Given the description of an element on the screen output the (x, y) to click on. 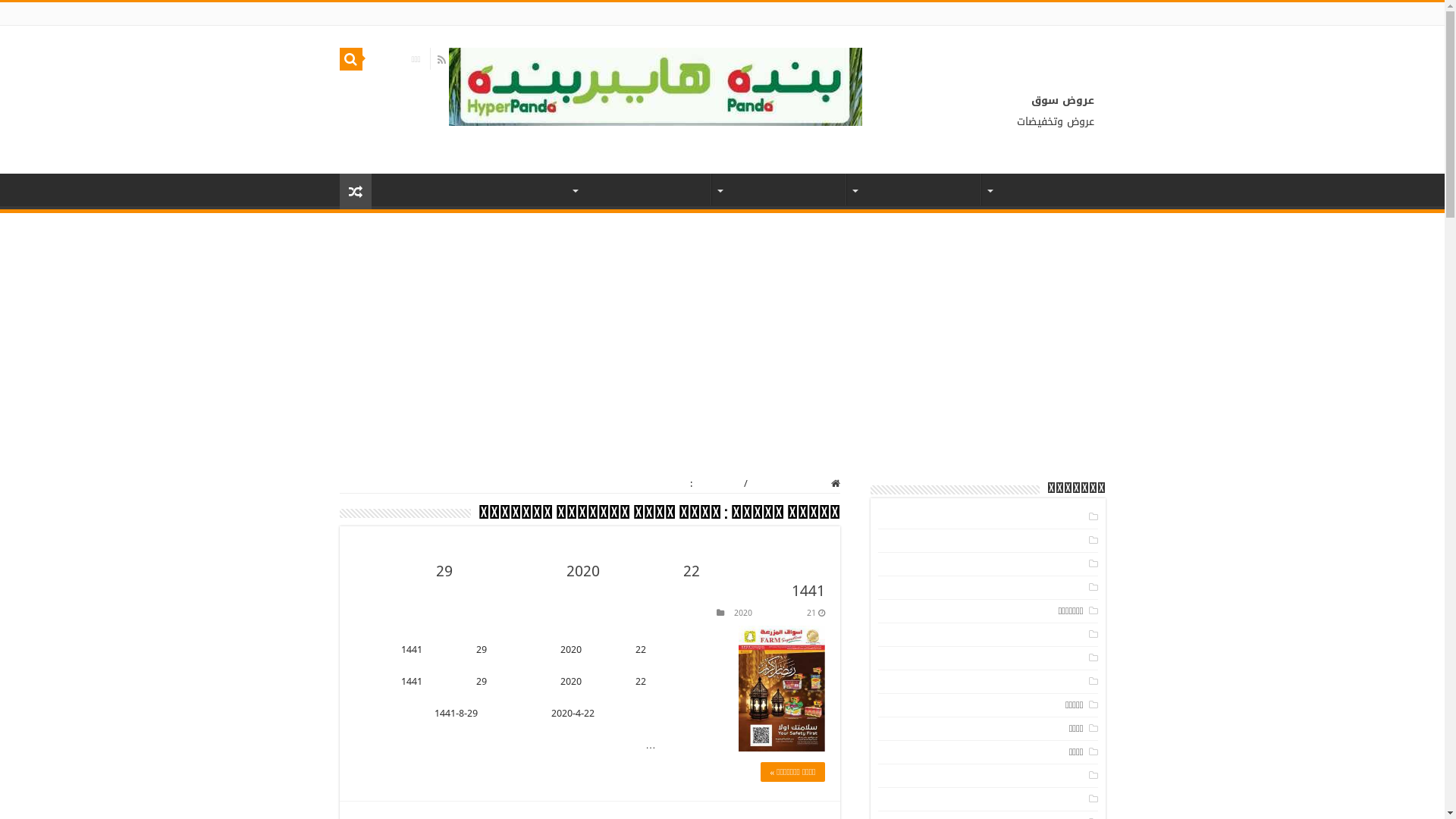
Advertisement Element type: hover (721, 326)
Rss Element type: hover (440, 59)
